Given the description of an element on the screen output the (x, y) to click on. 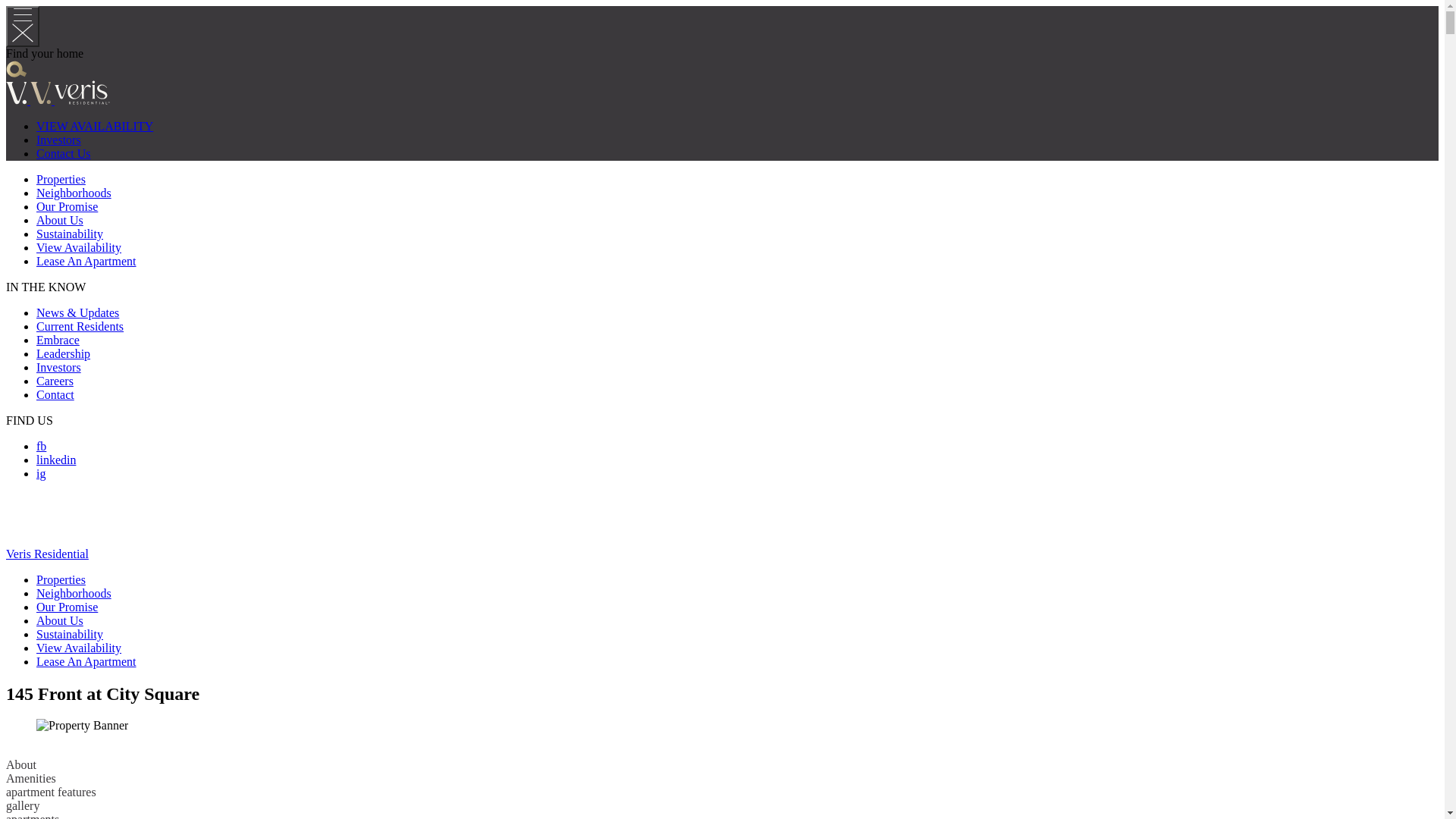
News & Updates Element type: text (77, 312)
Lease An Apartment Element type: text (86, 661)
View Availability Element type: text (78, 647)
Leadership Element type: text (63, 353)
Neighborhoods Element type: text (73, 592)
VIEW AVAILABILITY Element type: text (94, 125)
Embrace Element type: text (57, 339)
Our Promise Element type: text (66, 606)
Contact Element type: text (55, 394)
View Availability Element type: text (78, 247)
Sustainability Element type: text (69, 233)
About Us Element type: text (59, 219)
Current Residents Element type: text (79, 326)
Properties Element type: text (60, 579)
Our Promise Element type: text (66, 206)
Sustainability Element type: text (69, 633)
Properties Element type: text (60, 178)
ig Element type: text (40, 473)
Lease An Apartment Element type: text (86, 260)
About Us Element type: text (59, 620)
linkedin Element type: text (55, 459)
Careers Element type: text (54, 380)
Contact Us Element type: text (63, 153)
Veris Residential Element type: text (47, 553)
Investors Element type: text (58, 139)
Investors Element type: text (58, 366)
fb Element type: text (41, 445)
Neighborhoods Element type: text (73, 192)
